Given the description of an element on the screen output the (x, y) to click on. 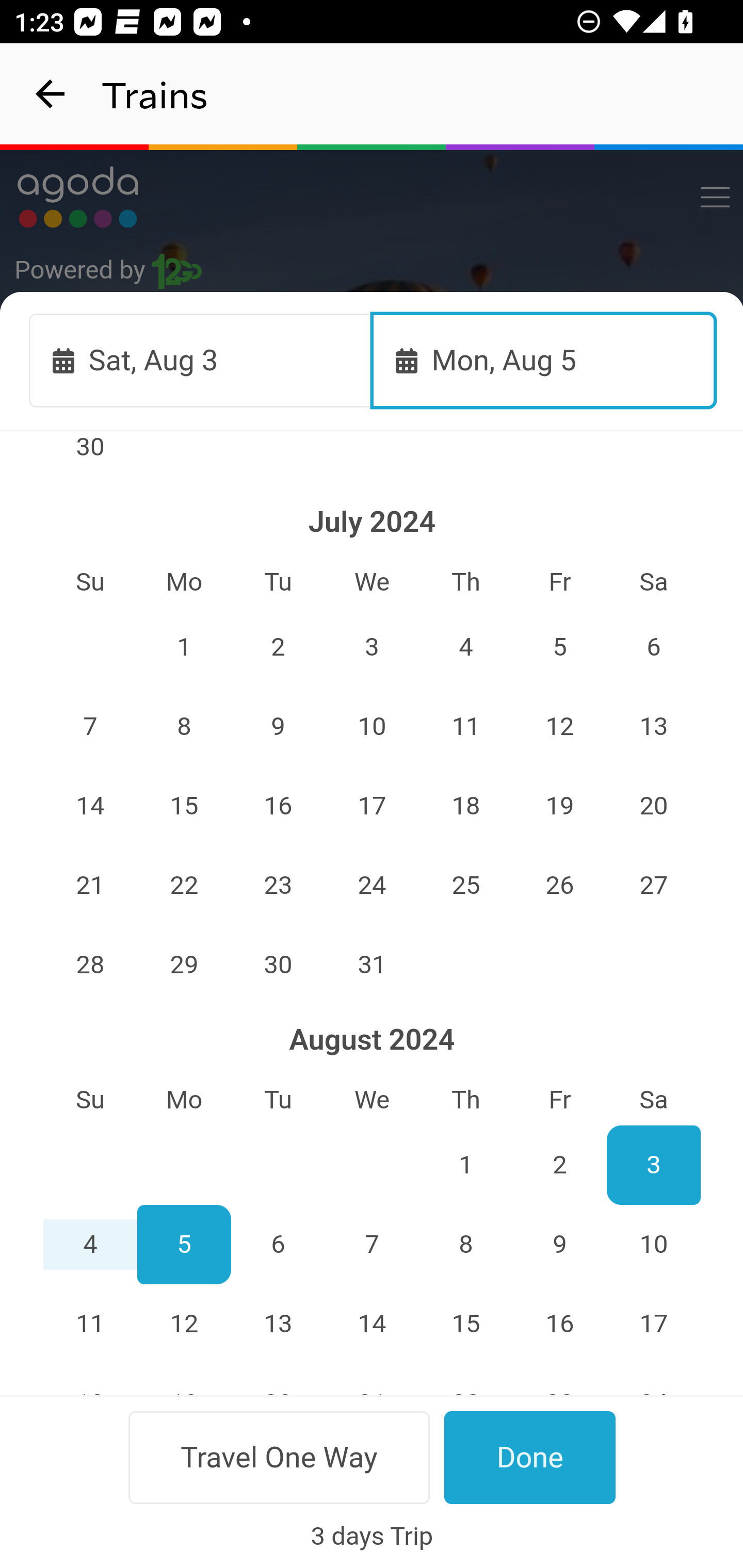
navigation_button (50, 93)
Mon, Aug 5 (544, 359)
23 (90, 367)
30 (90, 458)
Manchester Swap trip points (372, 576)
1 (184, 647)
2 (278, 647)
3 (372, 647)
4 (465, 647)
5 (559, 647)
6 (654, 647)
7 (90, 726)
8 (184, 726)
9 (278, 726)
10 (372, 726)
11 (465, 726)
12 (559, 726)
13 (654, 726)
14 (90, 805)
15 (184, 805)
16 (278, 805)
17 (372, 805)
18 (465, 805)
19 (559, 805)
20 (654, 805)
21 (90, 885)
22 (184, 885)
23 (278, 885)
25 (465, 885)
26 (559, 885)
27 (654, 885)
28 (90, 964)
29 (184, 964)
30 (278, 964)
31 (372, 964)
1 (465, 1164)
2 (559, 1164)
3 (654, 1164)
4 (90, 1244)
5 (184, 1244)
6 (278, 1244)
7 (372, 1244)
8 (465, 1244)
9 (559, 1244)
10 (654, 1244)
11 (90, 1324)
12 (184, 1324)
13 (278, 1324)
14 (372, 1324)
15 (465, 1324)
16 (559, 1324)
17 (654, 1324)
Travel One Way (278, 1457)
Done (530, 1457)
